Given the description of an element on the screen output the (x, y) to click on. 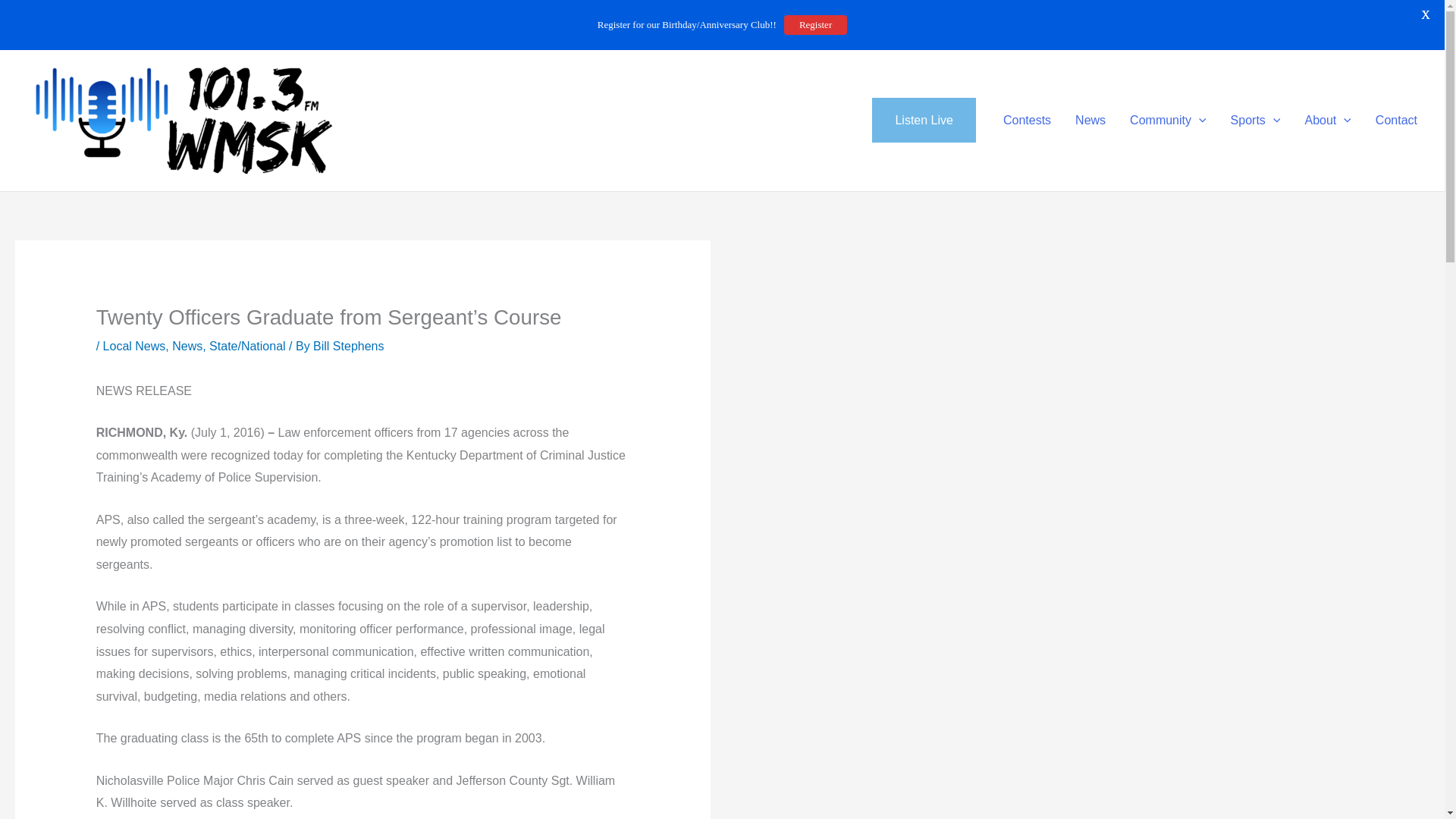
View all posts by Bill Stephens (348, 345)
Community (1168, 120)
News (1090, 120)
Contests (1026, 120)
Sports (1255, 120)
About (1327, 120)
Contact (1395, 120)
Listen Live (923, 120)
